Given the description of an element on the screen output the (x, y) to click on. 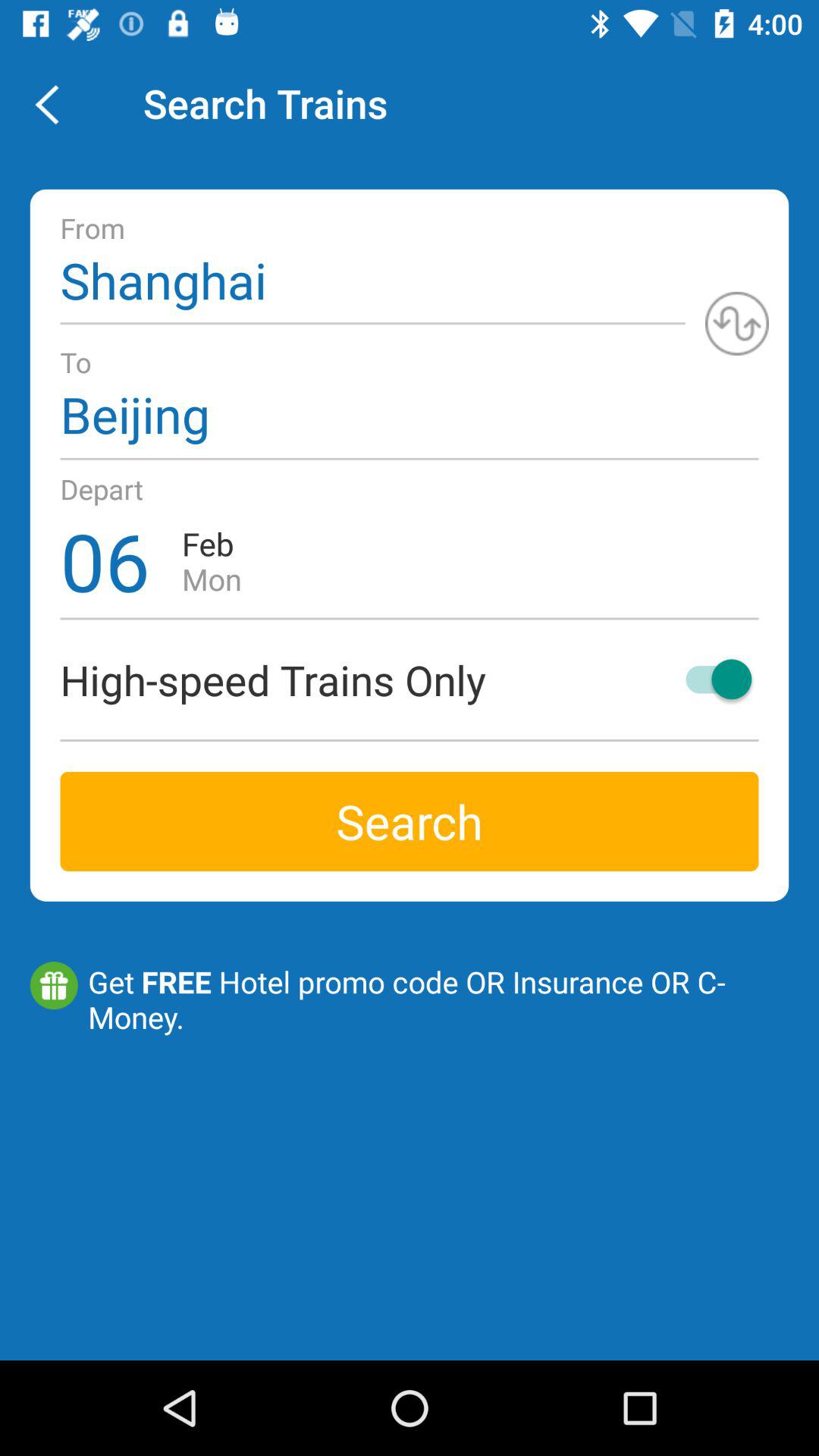
toggle high-speed trains only option (711, 679)
